Given the description of an element on the screen output the (x, y) to click on. 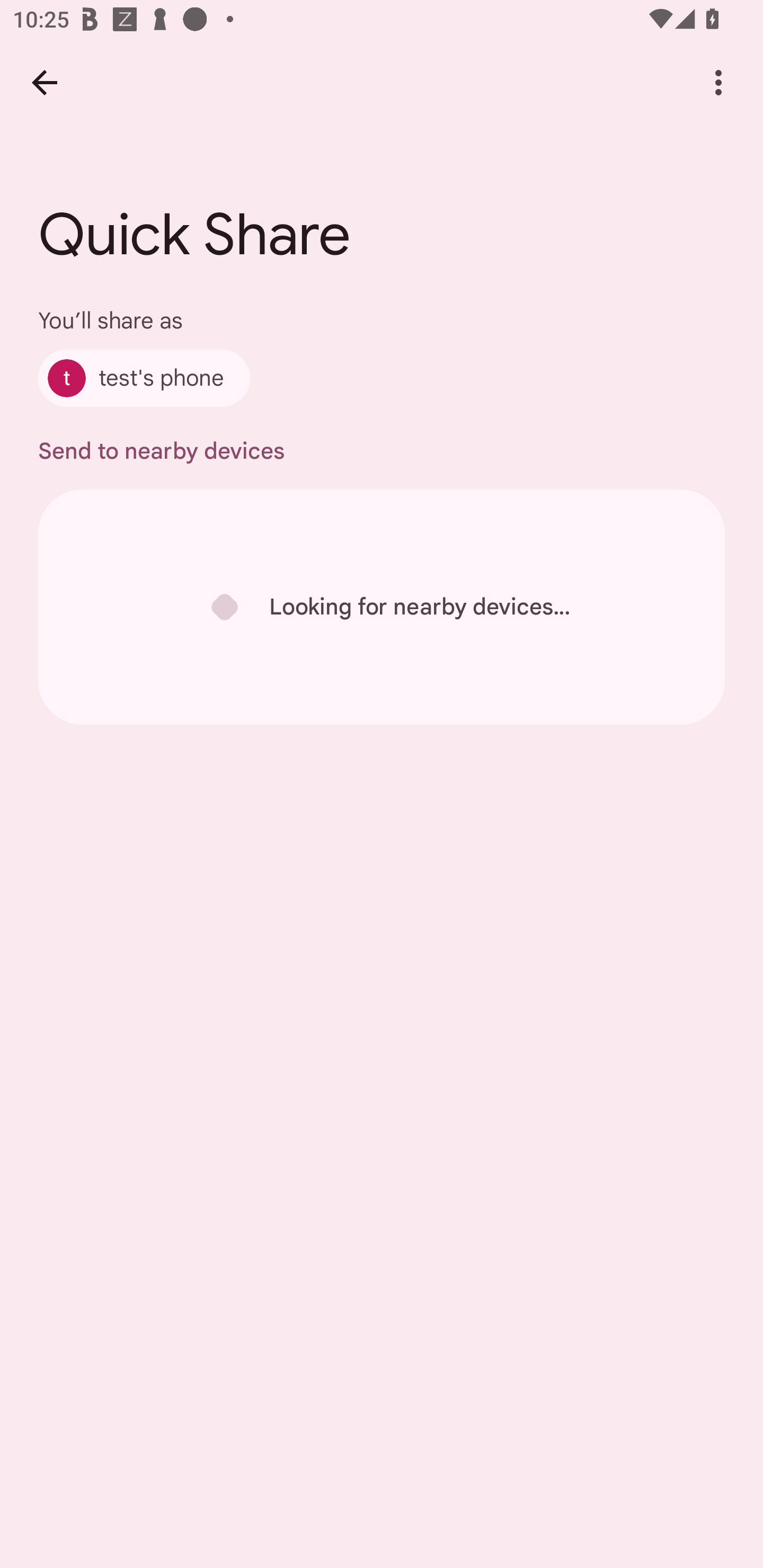
Back (44, 81)
More (718, 81)
test's phone (144, 378)
